Given the description of an element on the screen output the (x, y) to click on. 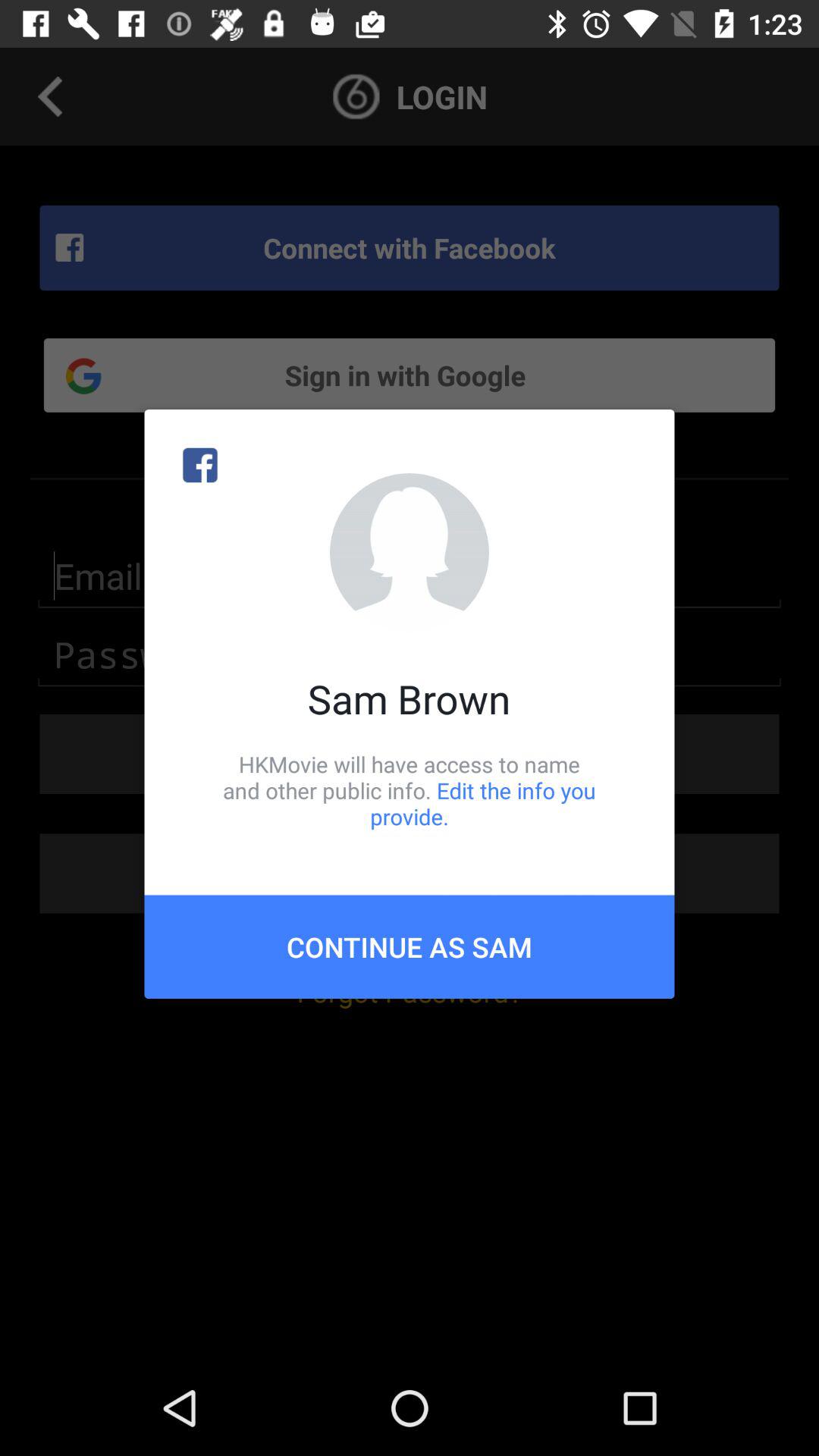
turn on item below the hkmovie will have (409, 946)
